Given the description of an element on the screen output the (x, y) to click on. 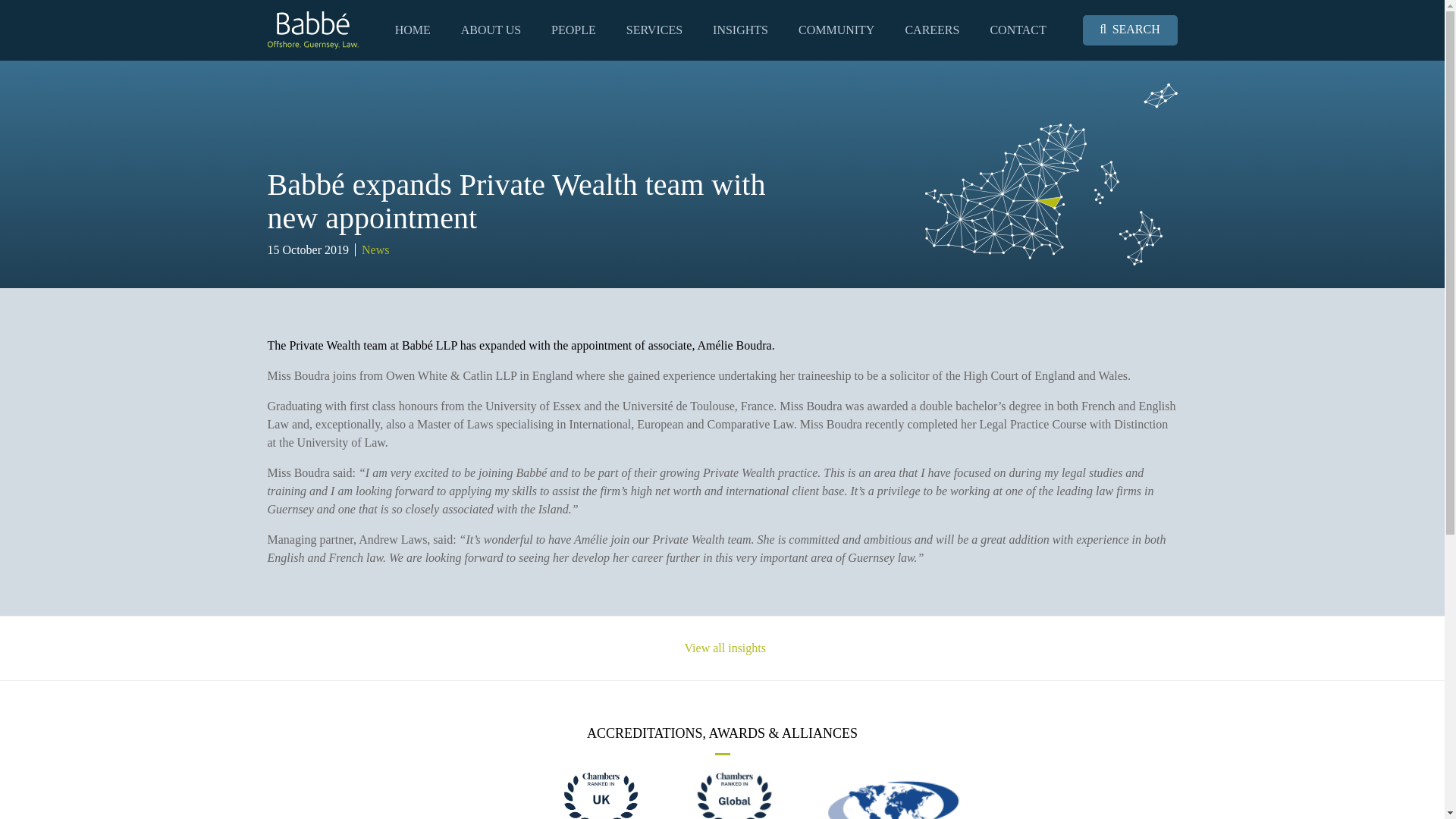
ABOUT US (491, 29)
COMMUNITY (836, 29)
HOME (412, 29)
PEOPLE (573, 29)
SEARCH (1130, 30)
SERVICES (654, 29)
View all insights (721, 647)
CAREERS (931, 29)
INSIGHTS (740, 29)
News (374, 249)
